Given the description of an element on the screen output the (x, y) to click on. 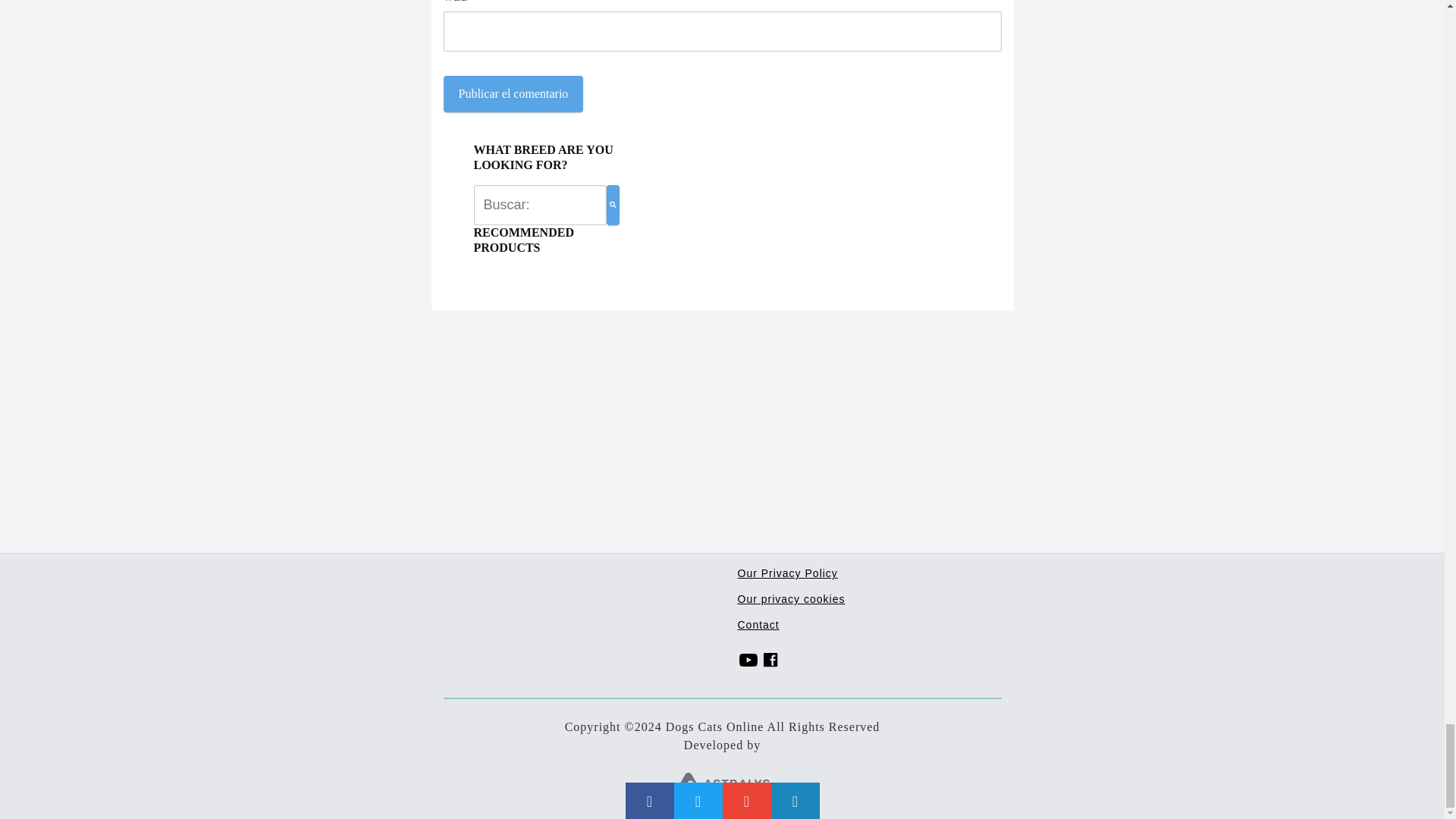
Publicar el comentario (512, 94)
Buscar: (540, 205)
